Given the description of an element on the screen output the (x, y) to click on. 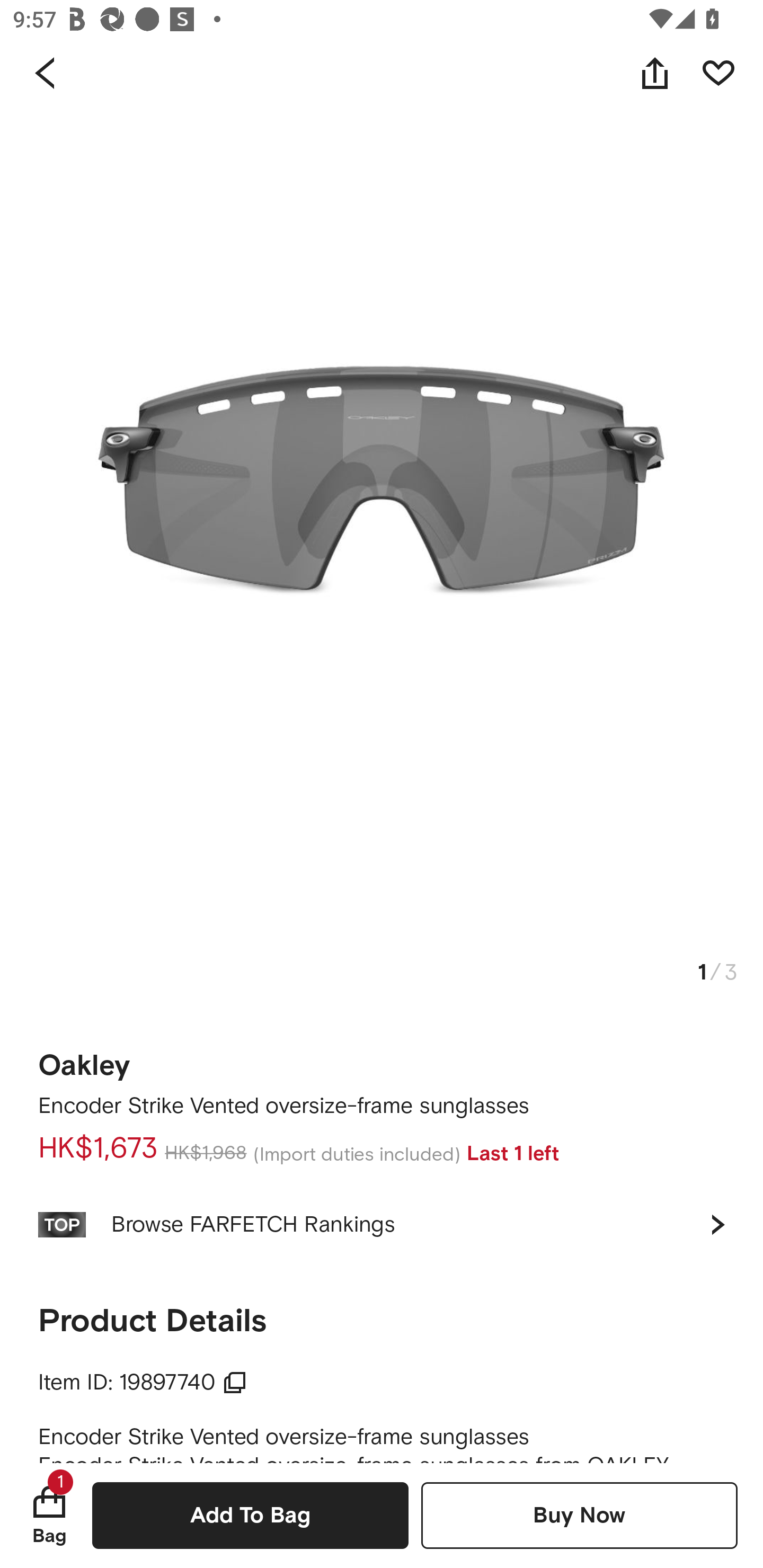
Oakley (83, 1059)
Browse FARFETCH Rankings (381, 1224)
Item ID: 19897740 (142, 1382)
Bag 1 (49, 1515)
Add To Bag (250, 1515)
Buy Now (579, 1515)
